Given the description of an element on the screen output the (x, y) to click on. 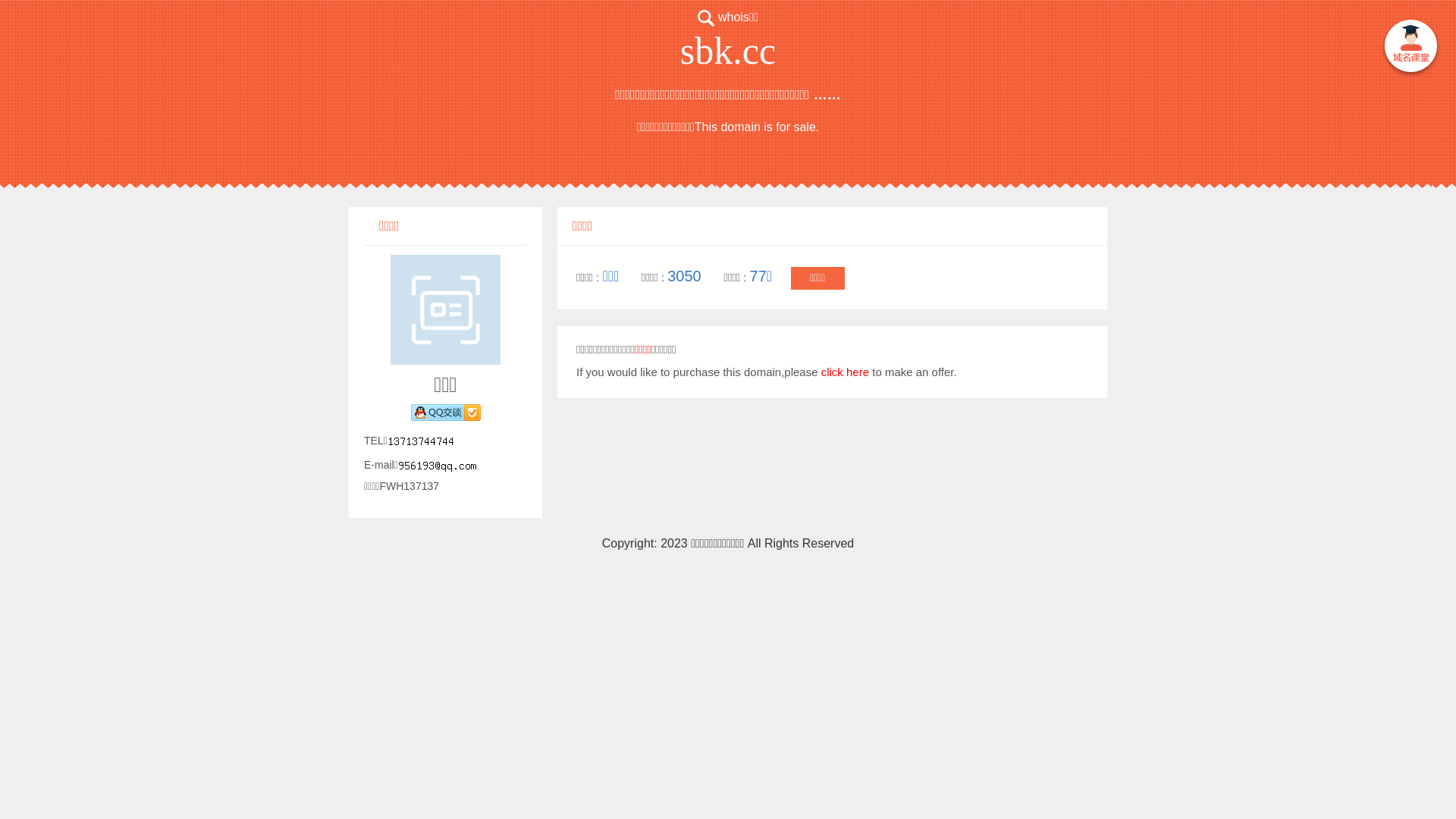
click here Element type: text (845, 371)
  Element type: text (1410, 48)
